Given the description of an element on the screen output the (x, y) to click on. 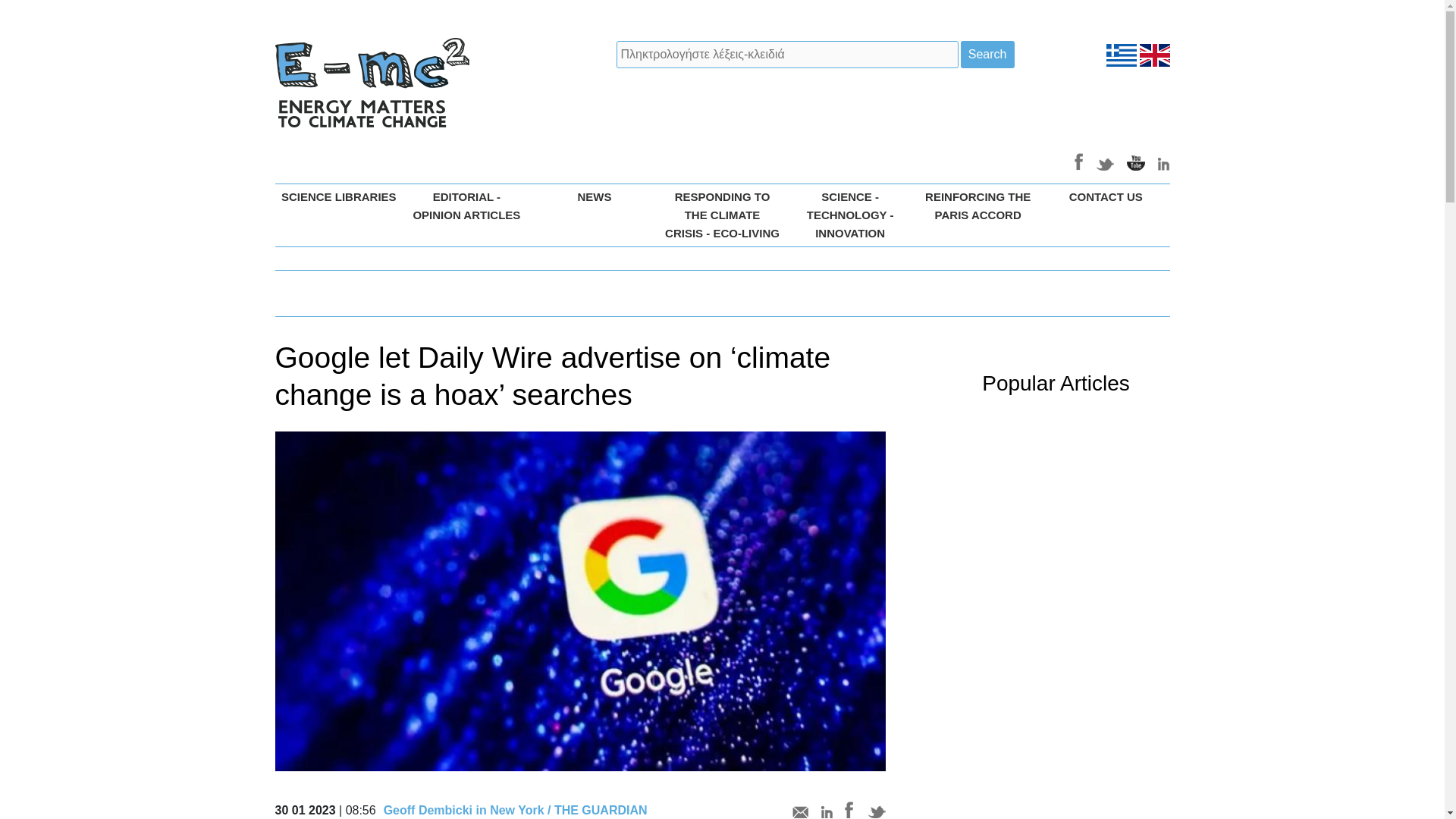
SCIENCE LIBRARIES (339, 196)
SCIENCE - TECHNOLOGY - INNOVATION (850, 215)
Search keywords (786, 53)
RESPONDING TO THE CLIMATE CRISIS - ECO-LIVING (722, 215)
3rd party ad content (992, 102)
Search (987, 53)
CONTACT US (1106, 196)
Search (987, 53)
Follow us on Twitter (1105, 161)
